Given the description of an element on the screen output the (x, y) to click on. 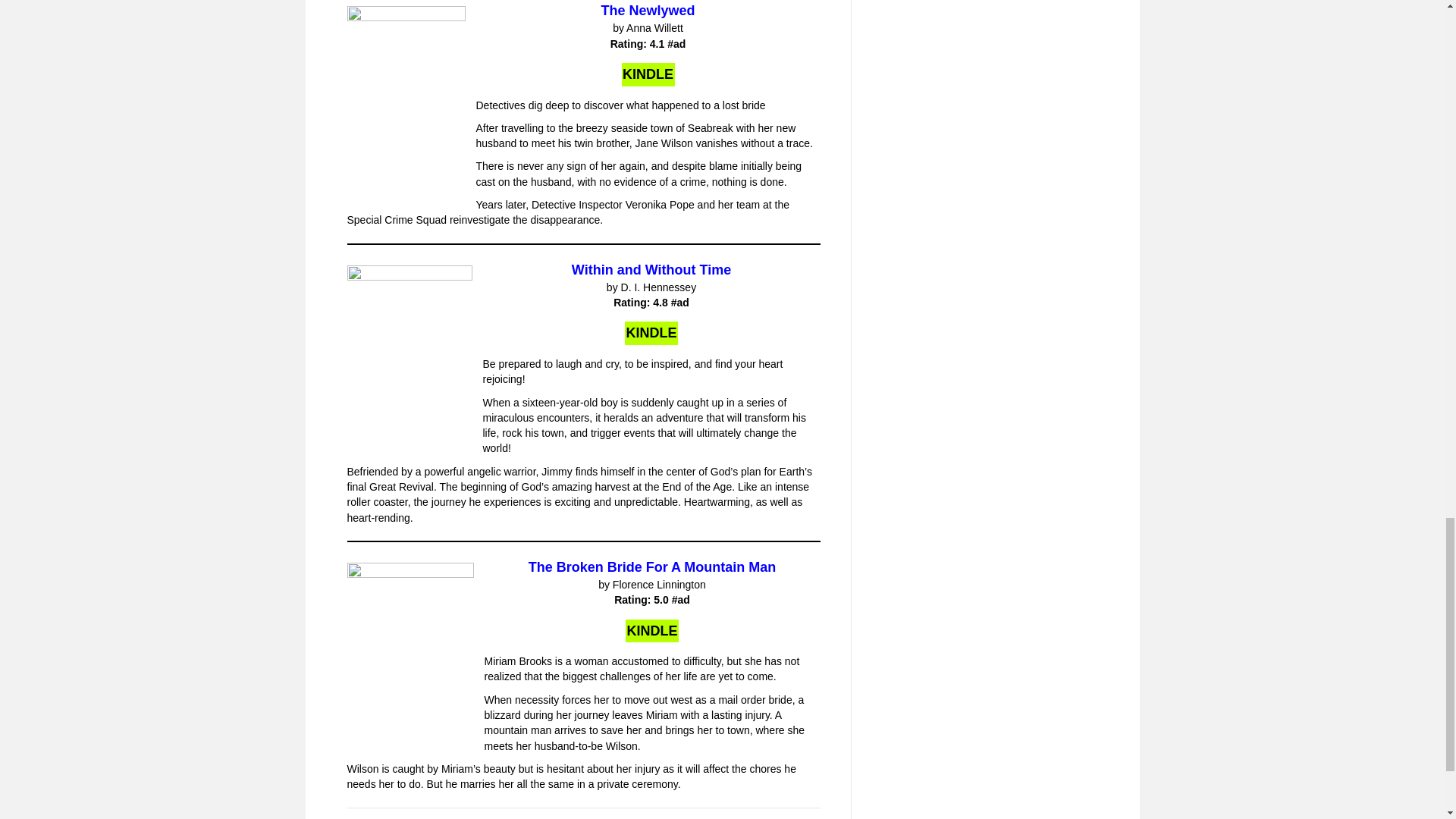
Within and Without Time (651, 269)
KINDLE (651, 332)
The Newlywed (646, 10)
The Broken Bride For A Mountain Man (652, 566)
KINDLE (648, 74)
